Given the description of an element on the screen output the (x, y) to click on. 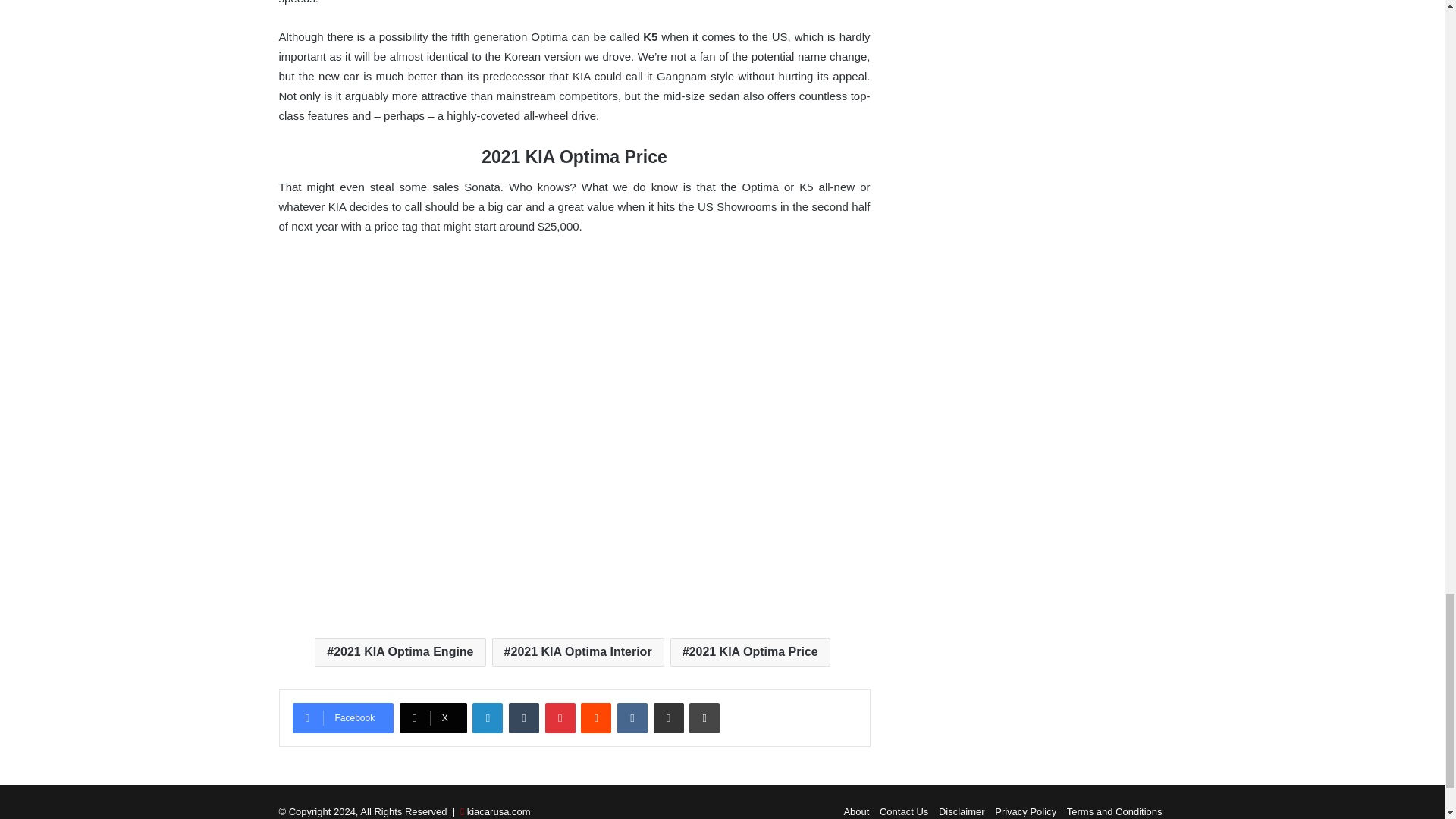
VKontakte (632, 717)
Reddit (595, 717)
Pinterest (559, 717)
Print (703, 717)
Share via Email (668, 717)
Facebook (343, 717)
X (432, 717)
VKontakte (632, 717)
X (432, 717)
Pinterest (559, 717)
Print (703, 717)
LinkedIn (486, 717)
2021 KIA Optima Price (749, 652)
Facebook (343, 717)
Tumblr (523, 717)
